Given the description of an element on the screen output the (x, y) to click on. 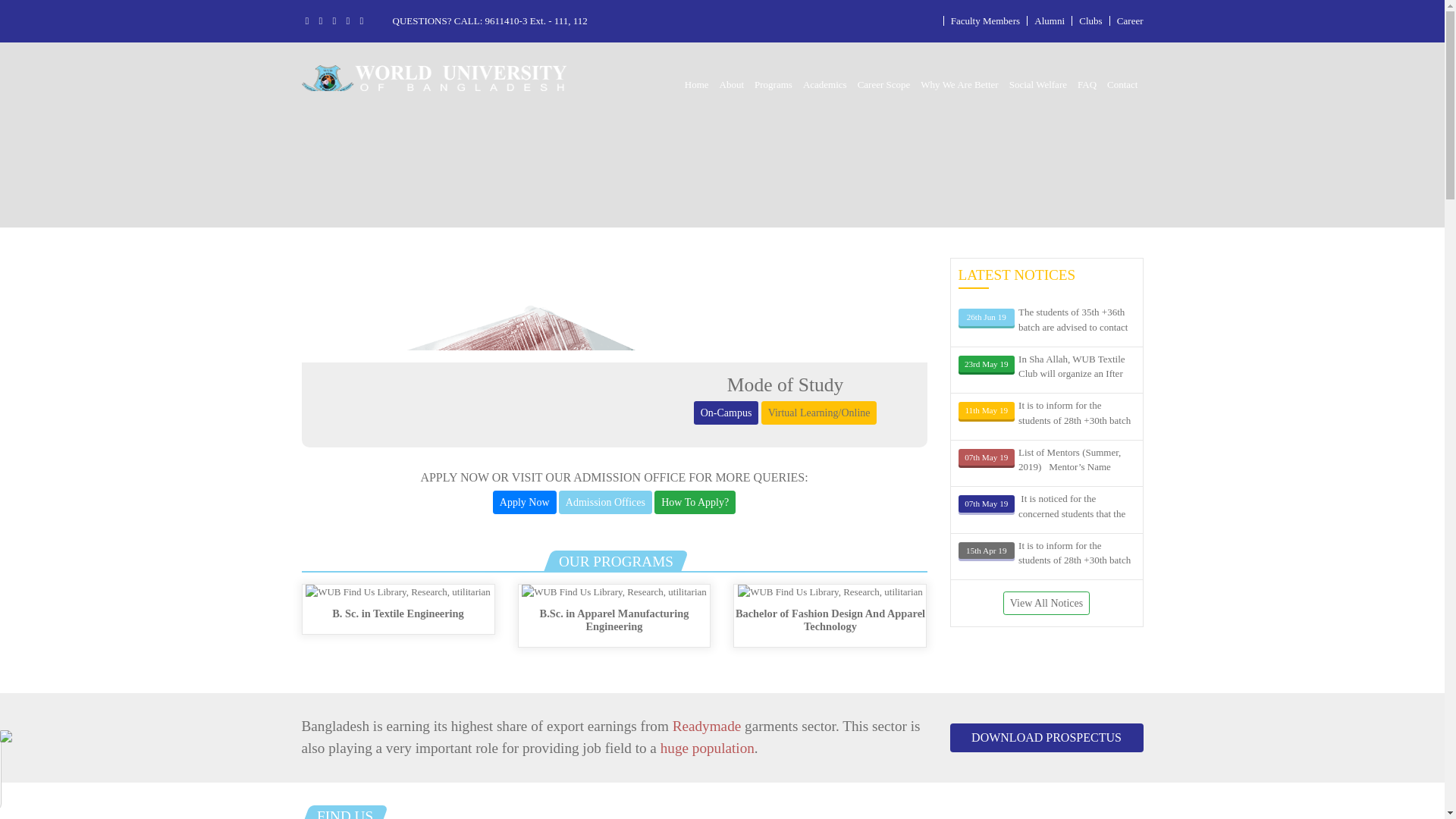
Faculty Members (985, 20)
Alumni (1048, 20)
How To Apply? (694, 502)
Apply Now (524, 502)
World University Bangladesh Google Plus Page (334, 20)
On-Campus (726, 413)
Programs (773, 84)
View All Notices (1046, 603)
Academics (824, 84)
Clubs (1090, 20)
